Given the description of an element on the screen output the (x, y) to click on. 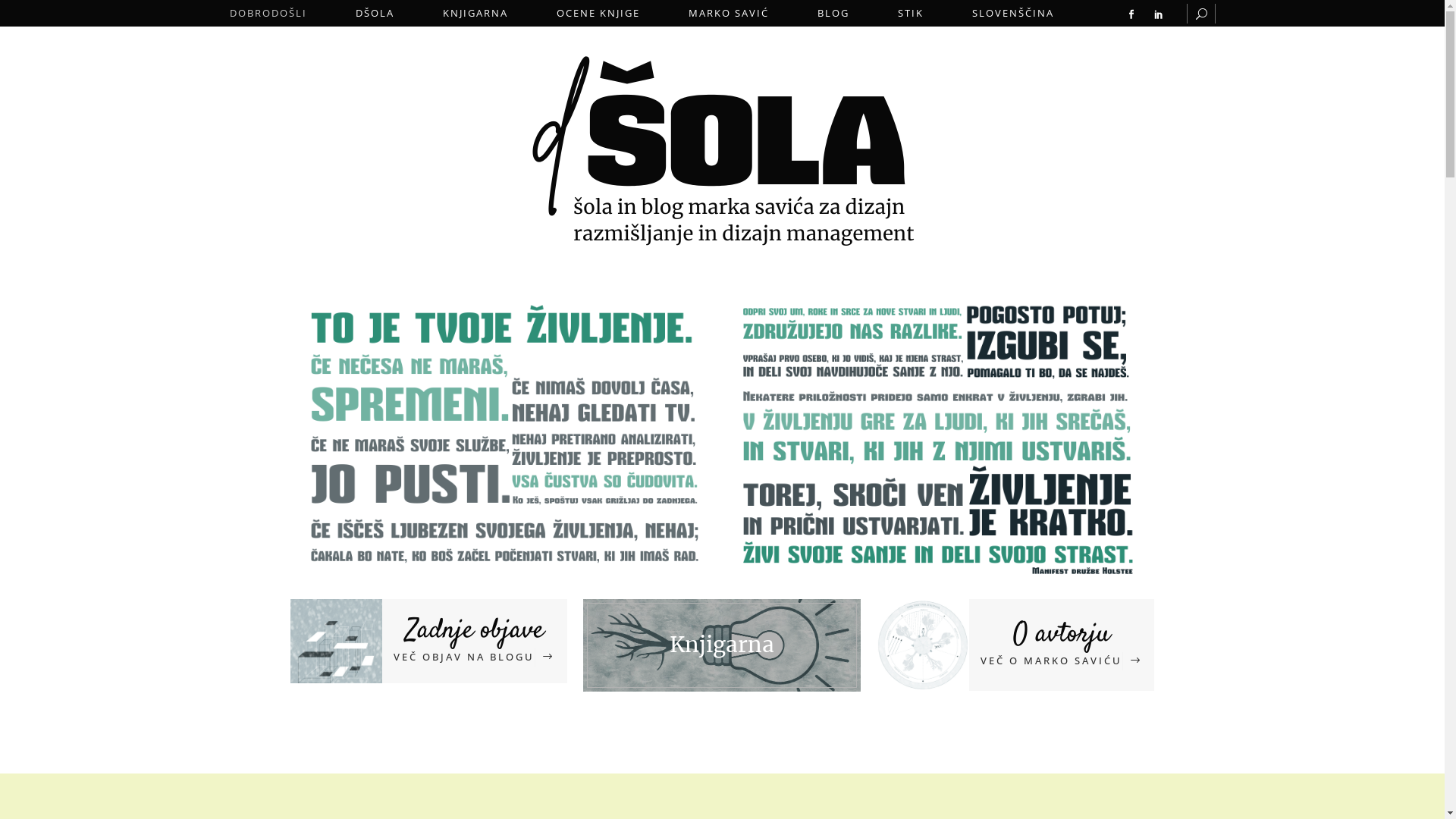
STIK Element type: text (910, 13)
KNJIGARNA Element type: text (475, 13)
BLOG Element type: text (833, 13)
OCENE KNJIGE Element type: text (598, 13)
